Given the description of an element on the screen output the (x, y) to click on. 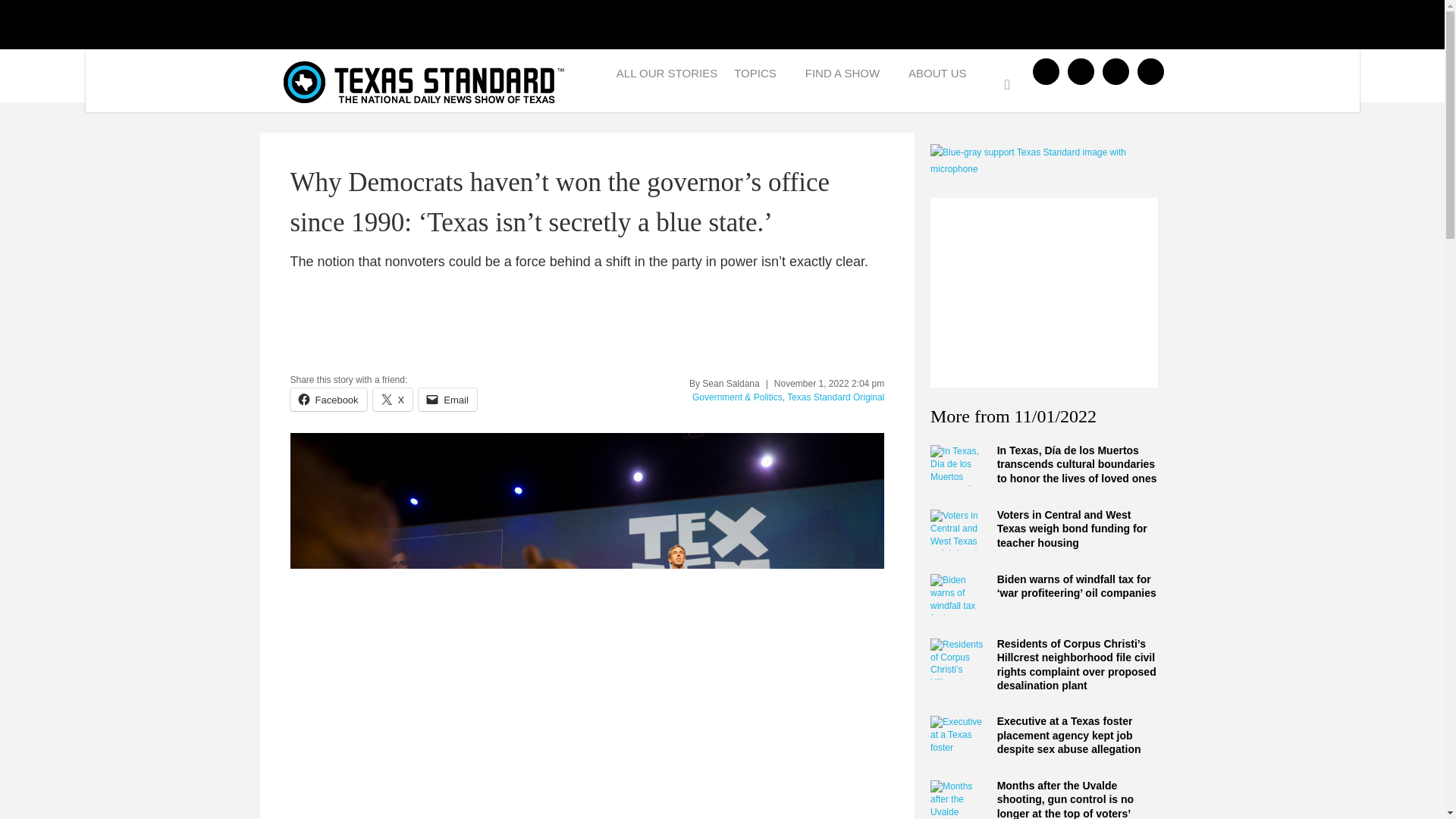
ALL OUR STORIES (666, 77)
TOPICS (761, 77)
Click to share on X (392, 399)
Click to share on Facebook (327, 399)
Click to email a link to a friend (448, 399)
